Given the description of an element on the screen output the (x, y) to click on. 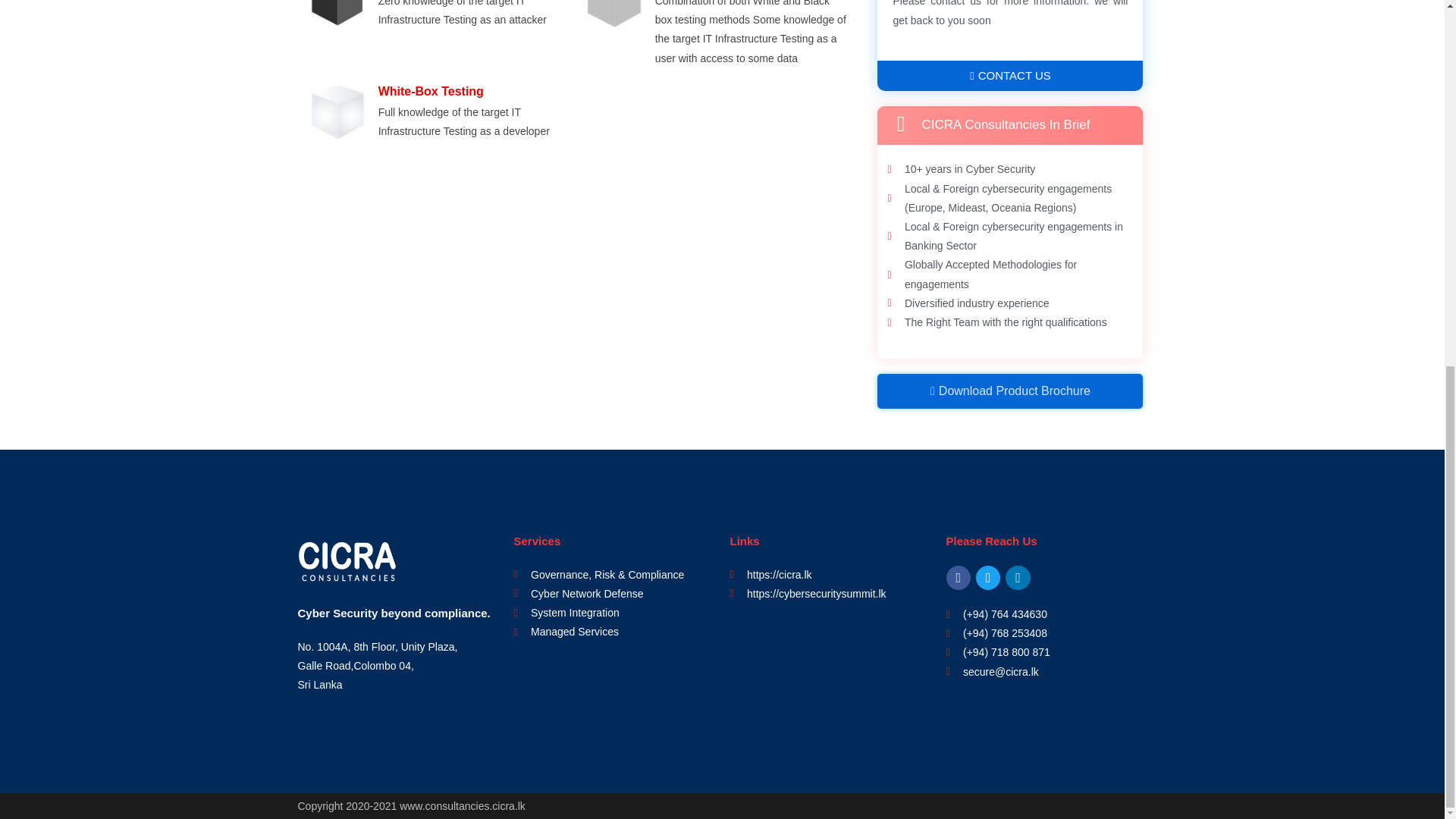
Download Product Brochure (1009, 390)
Cyber Network Defense (613, 593)
CONTACT US (1009, 75)
System Integration (613, 612)
